Given the description of an element on the screen output the (x, y) to click on. 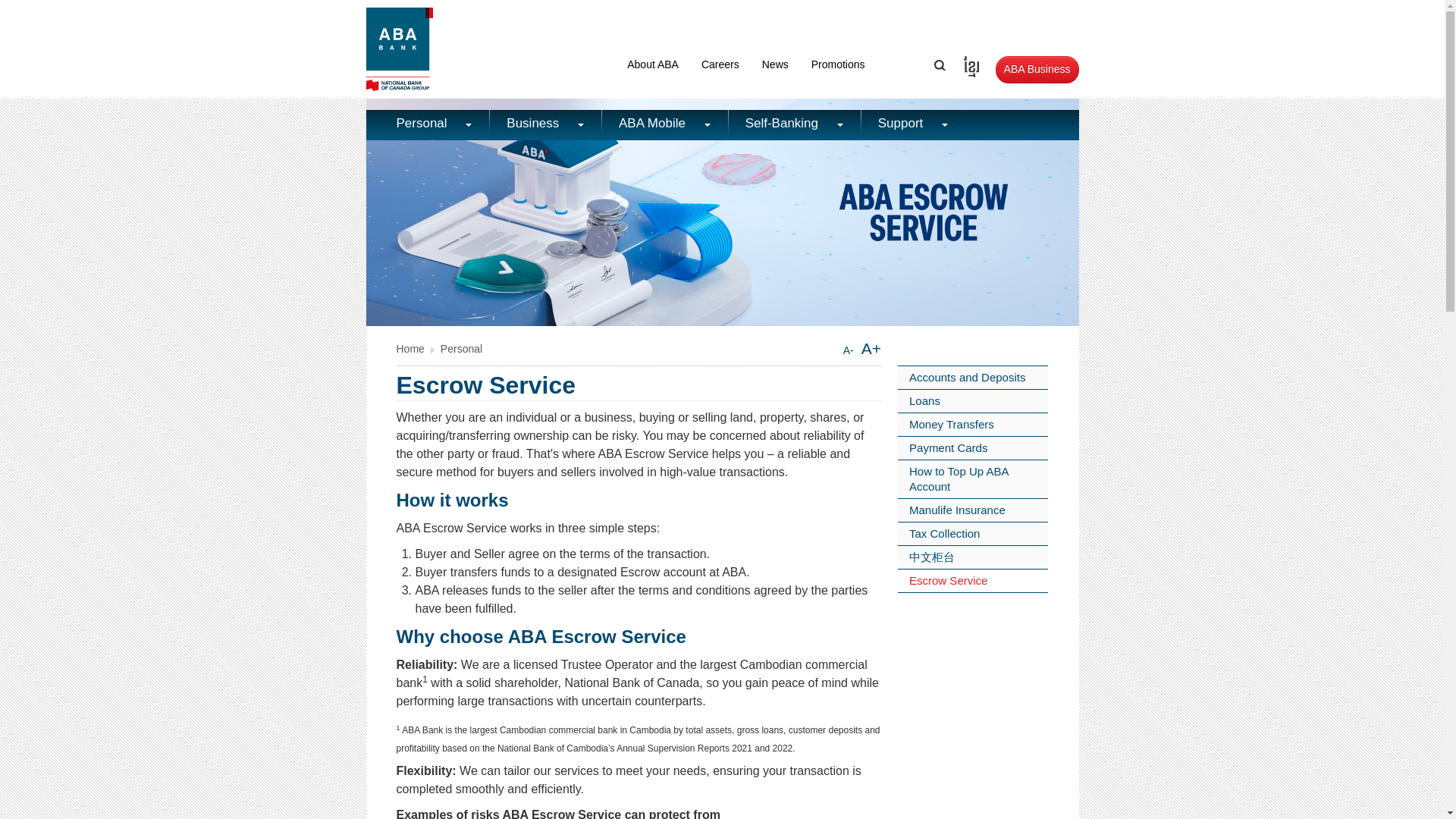
ABA Business (1036, 69)
Promotions (837, 64)
Personal (461, 348)
News (775, 64)
Promotions (837, 64)
Home (409, 348)
Personal  (427, 124)
Search (939, 64)
About ABA (652, 64)
Increase Font Size (870, 348)
About ABA (652, 64)
Careers (720, 64)
News (775, 64)
Search (939, 64)
Careers (720, 64)
